Given the description of an element on the screen output the (x, y) to click on. 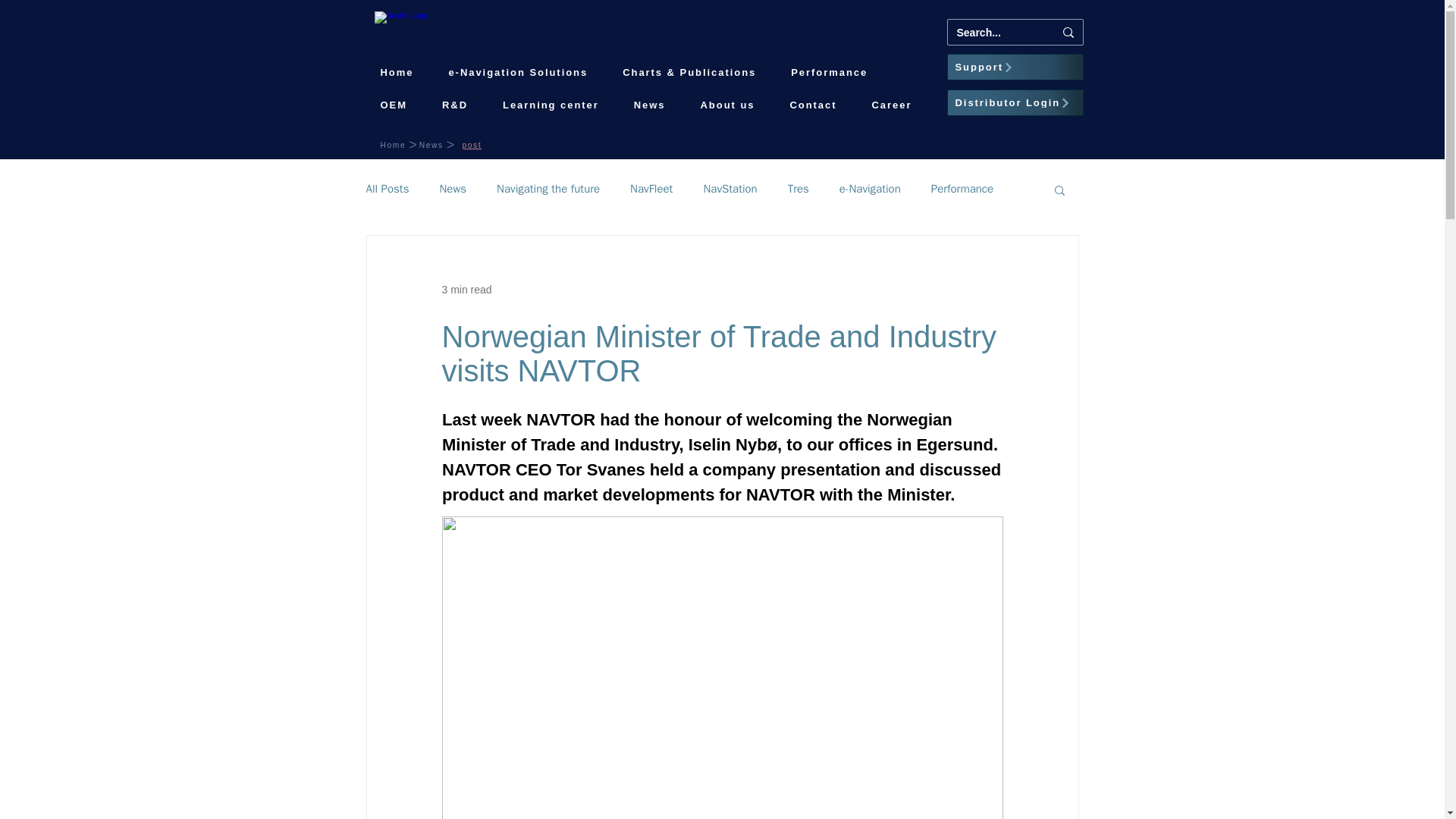
About us (727, 105)
Home (397, 72)
e-Navigation Solutions (517, 72)
News (649, 105)
Learning center (550, 105)
Career (892, 105)
Support (1014, 67)
Performance (828, 72)
Contact (812, 105)
OEM (393, 105)
3 min read (466, 289)
Distributor Login (1014, 102)
